Given the description of an element on the screen output the (x, y) to click on. 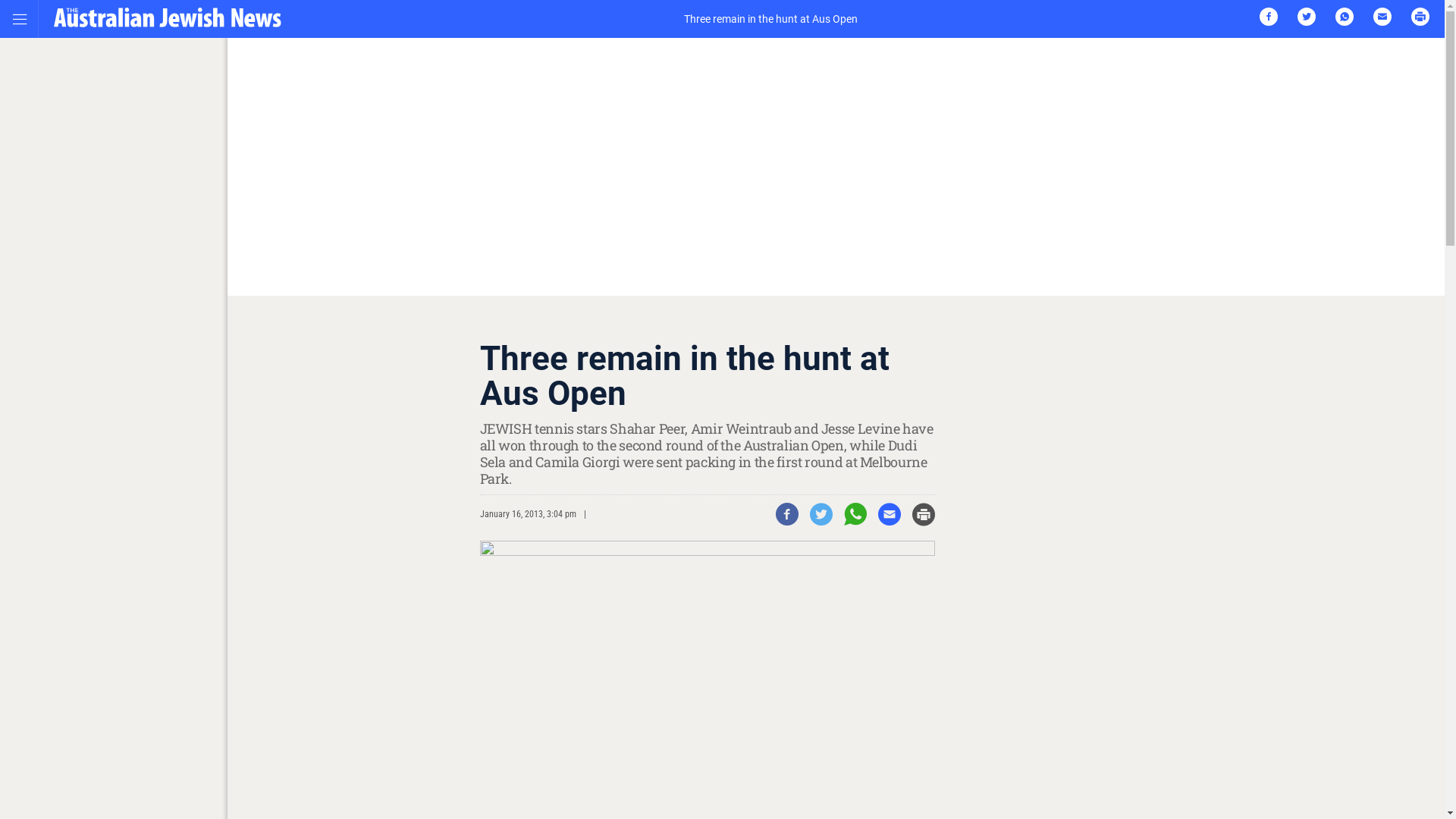
3rd party ad content Element type: hover (1078, 435)
